Given the description of an element on the screen output the (x, y) to click on. 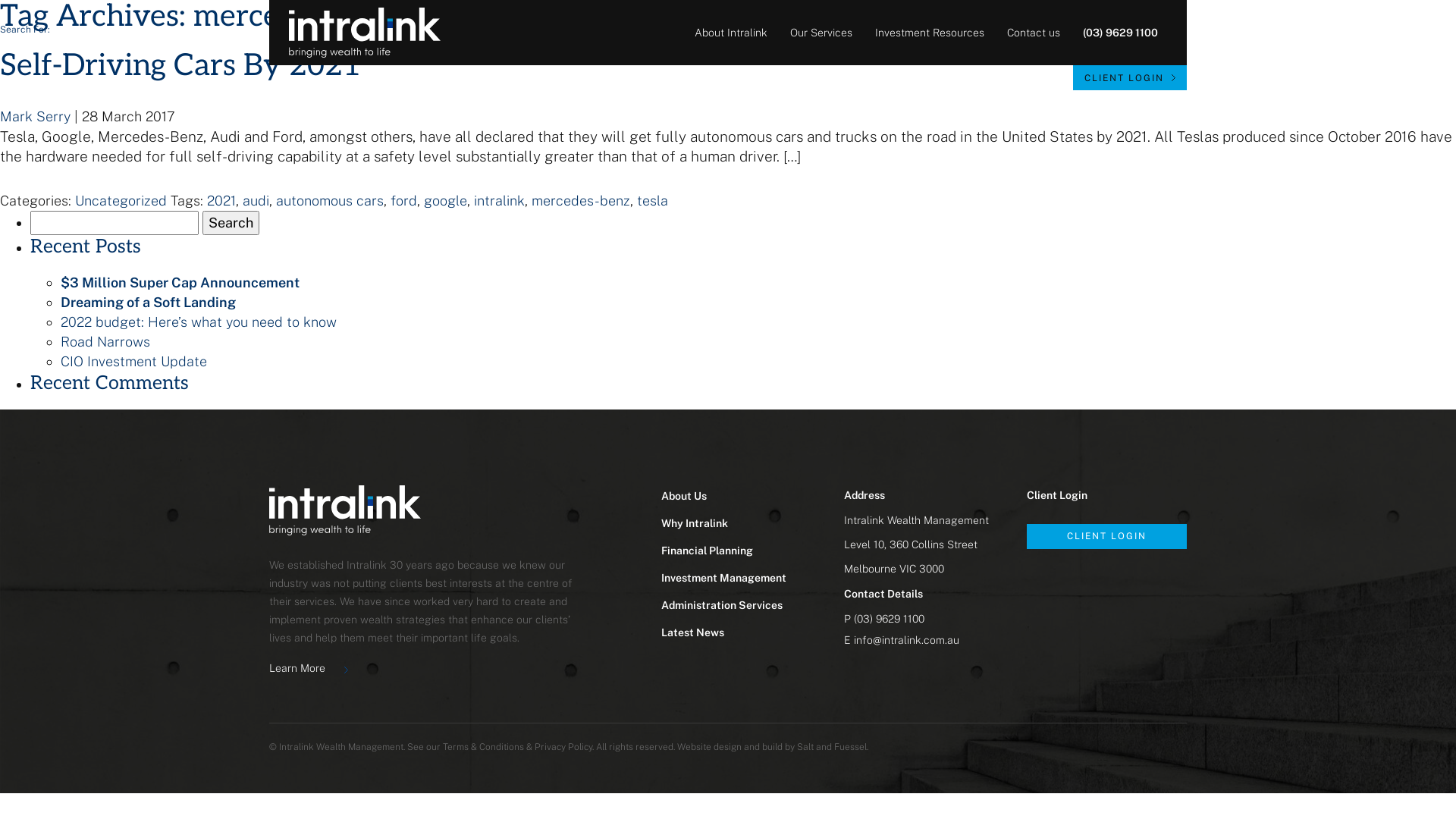
Mark Serry Element type: text (35, 116)
tesla Element type: text (652, 200)
Search Element type: text (230, 222)
Self-Driving Cars By 2021 Element type: text (180, 65)
ford Element type: text (403, 200)
mercedes-benz Element type: text (580, 200)
Latest News Element type: text (692, 632)
Road Narrows Element type: text (105, 341)
Administration Services Element type: text (721, 605)
CIO Investment Update Element type: text (133, 361)
CLIENT LOGIN Element type: text (1106, 536)
Salt and Fuessel Element type: text (831, 746)
Terms & Conditions Element type: text (483, 746)
Contact us Element type: text (1033, 32)
Dreaming of a Soft Landing Element type: text (147, 302)
Investment Management Element type: text (723, 577)
About Intralink Element type: text (730, 32)
Our Services Element type: text (821, 32)
intralink Element type: text (498, 200)
$3 Million Super Cap Announcement Element type: text (179, 282)
(03) 9629 1100 Element type: text (888, 618)
google Element type: text (445, 200)
audi Element type: text (255, 200)
Investment Resources Element type: text (929, 32)
info@intralink.com.au Element type: text (906, 639)
Learn More Element type: text (308, 667)
Privacy Policy Element type: text (563, 746)
CLIENT LOGIN Element type: text (1129, 77)
Uncategorized Element type: text (120, 200)
About Us Element type: text (683, 495)
2021 Element type: text (221, 200)
(03) 9629 1100 Element type: text (1119, 32)
Financial Planning Element type: text (707, 550)
Why Intralink Element type: text (694, 523)
autonomous cars Element type: text (329, 200)
